Given the description of an element on the screen output the (x, y) to click on. 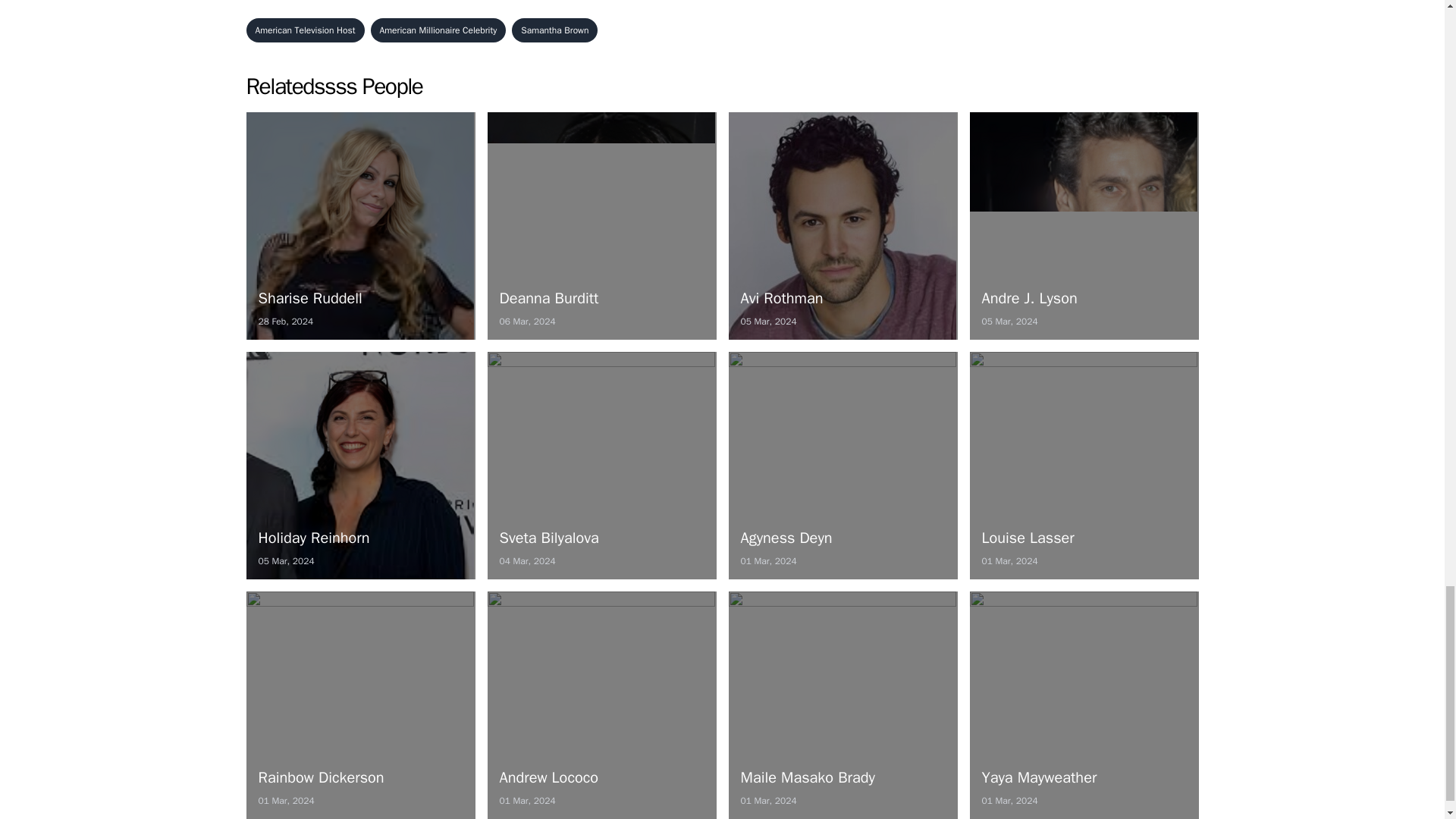
American Millionaire Celebrity (842, 225)
American Television Host (842, 465)
